Given the description of an element on the screen output the (x, y) to click on. 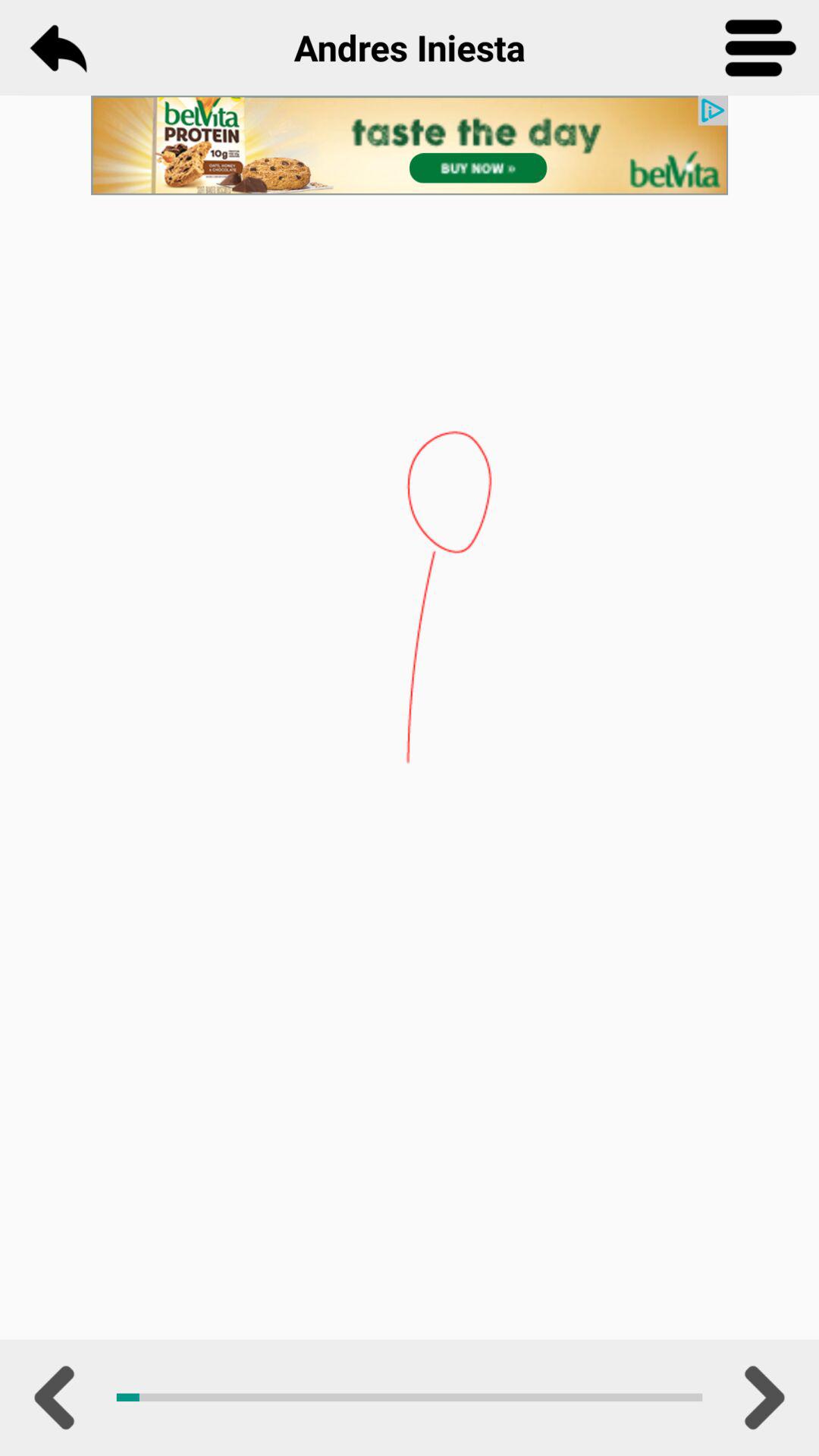
see more options (760, 47)
